Given the description of an element on the screen output the (x, y) to click on. 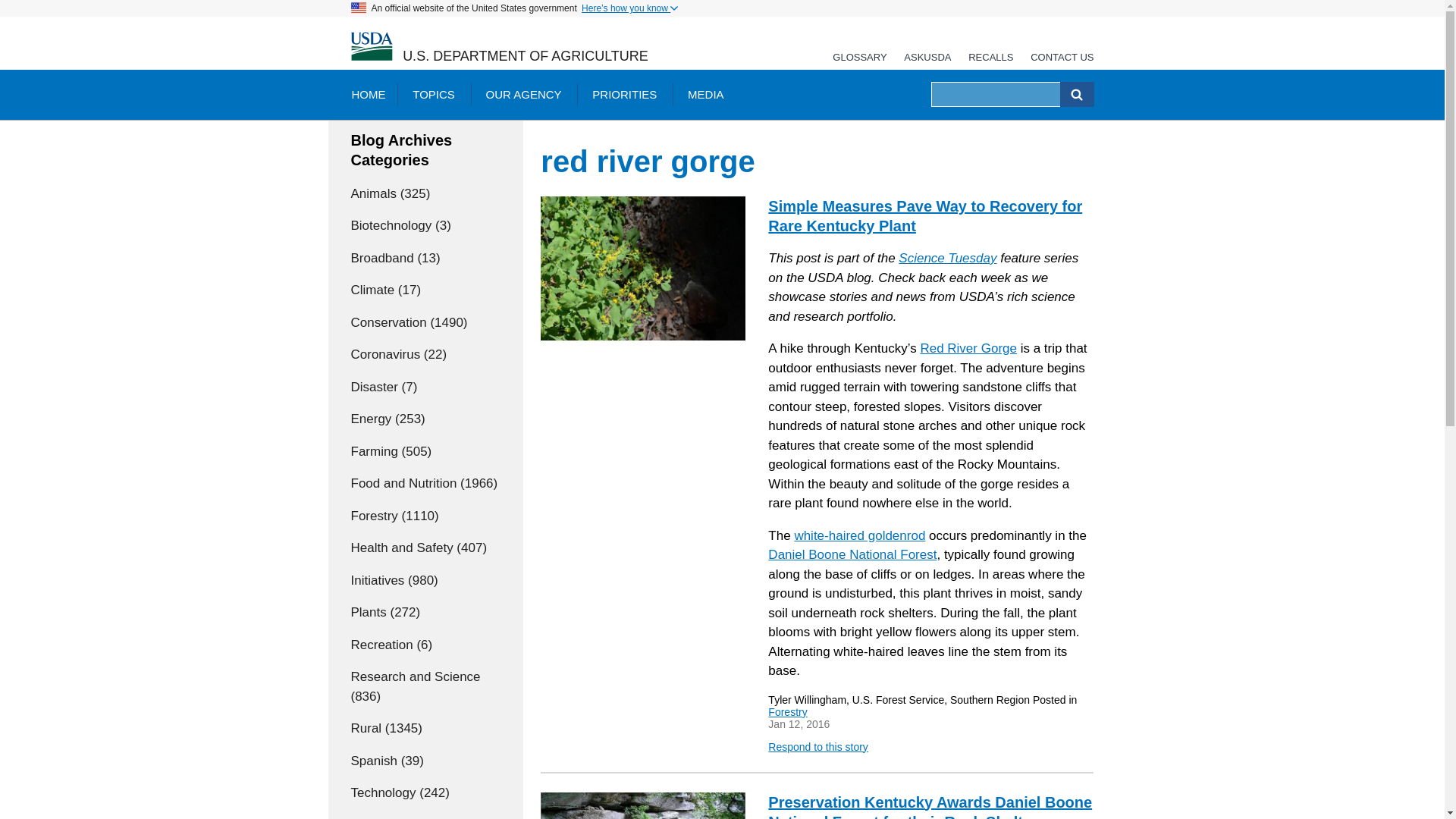
U.S. DEPARTMENT OF AGRICULTURE (525, 55)
Home (370, 46)
PRIORITIES (623, 94)
OUR AGENCY (523, 94)
HOME (367, 94)
Home (525, 55)
TOPICS (433, 94)
